Given the description of an element on the screen output the (x, y) to click on. 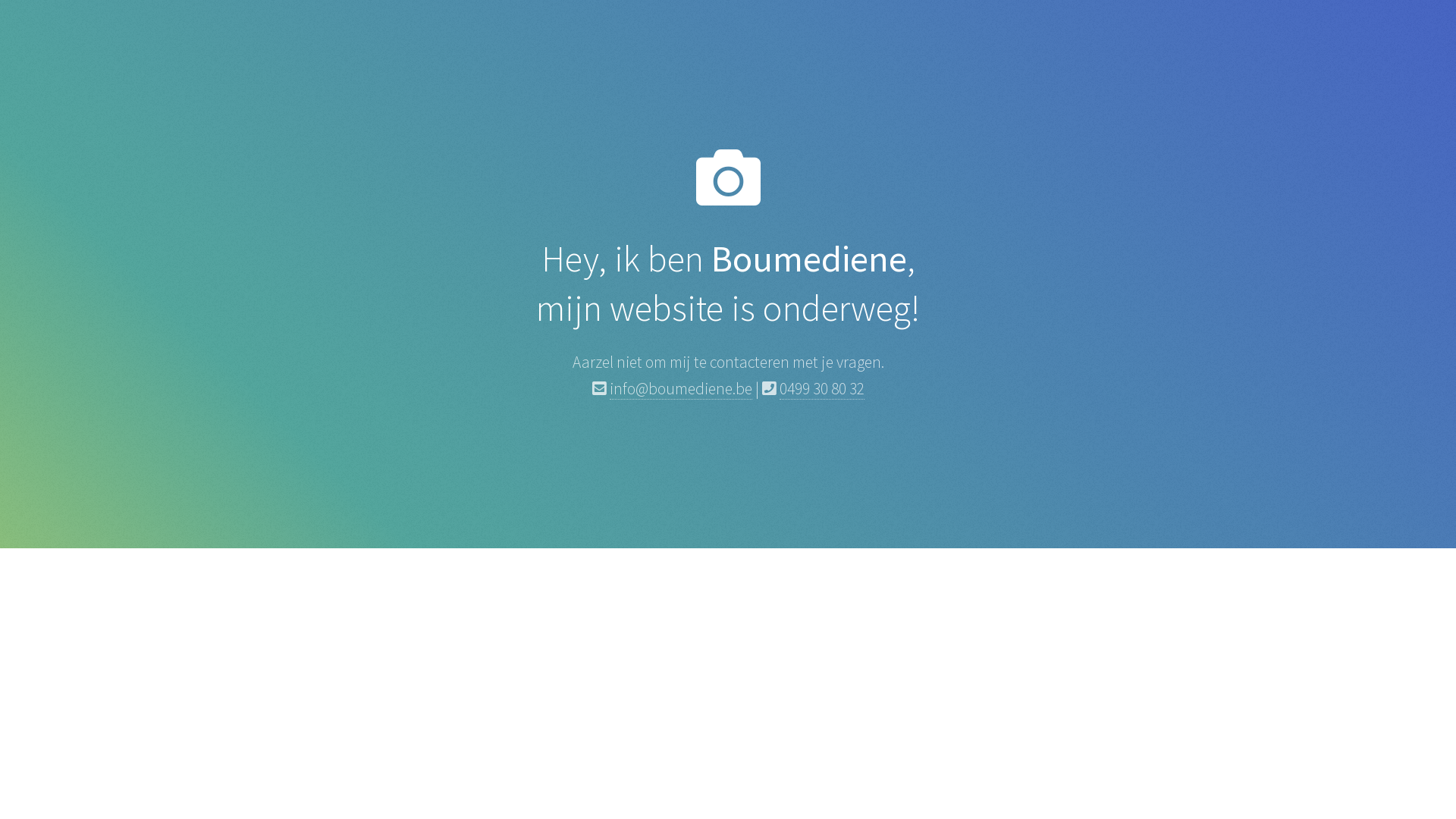
info@boumediene.be Element type: text (680, 388)
0499 30 80 32 Element type: text (821, 388)
